Given the description of an element on the screen output the (x, y) to click on. 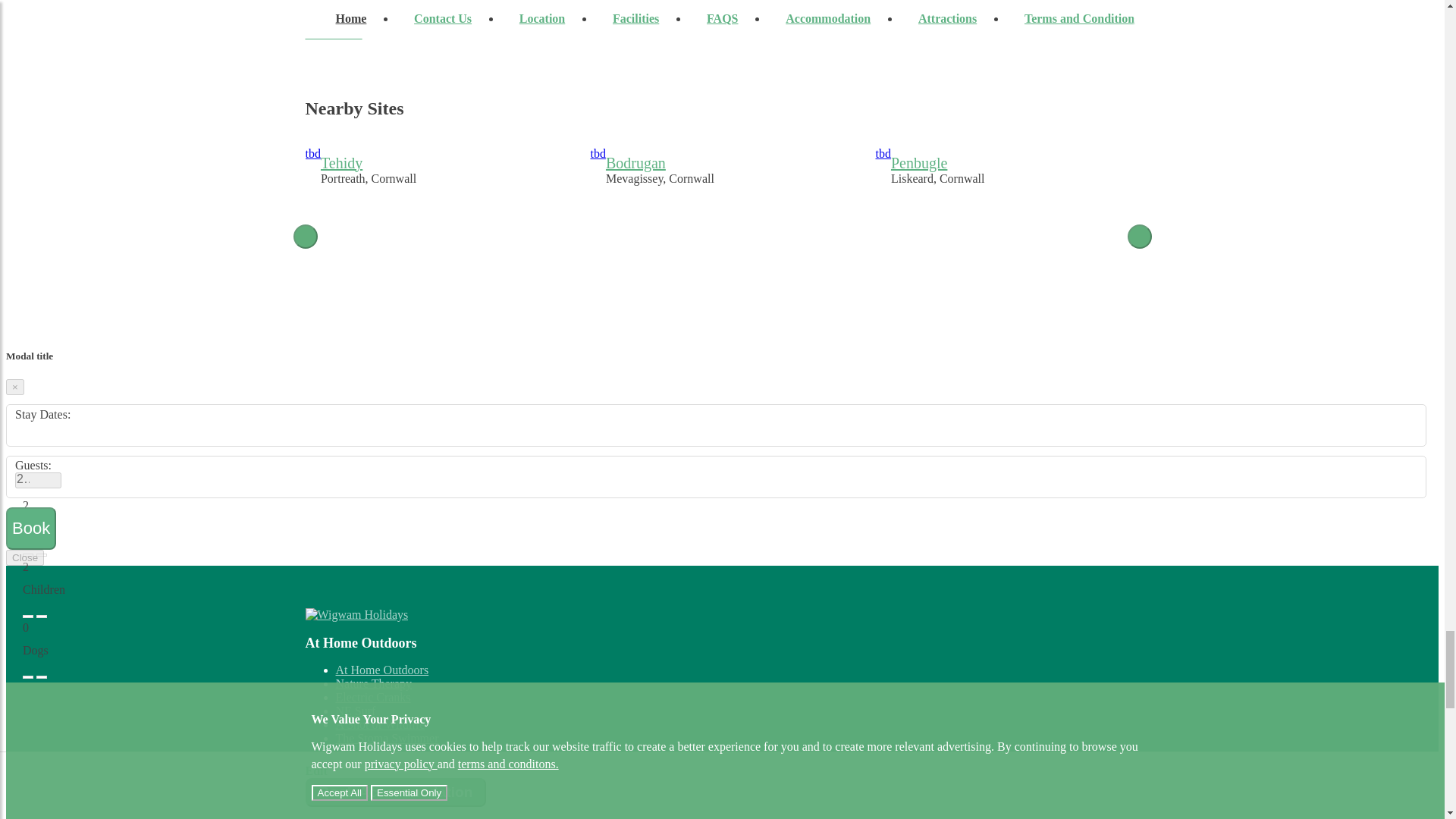
Mevagissey, Cornwall (659, 178)
Liskeard, Cornwall (1009, 240)
Nearby Sites (938, 178)
Camelford, Cornwall (724, 240)
Portreath, Cornwall (721, 112)
